Given the description of an element on the screen output the (x, y) to click on. 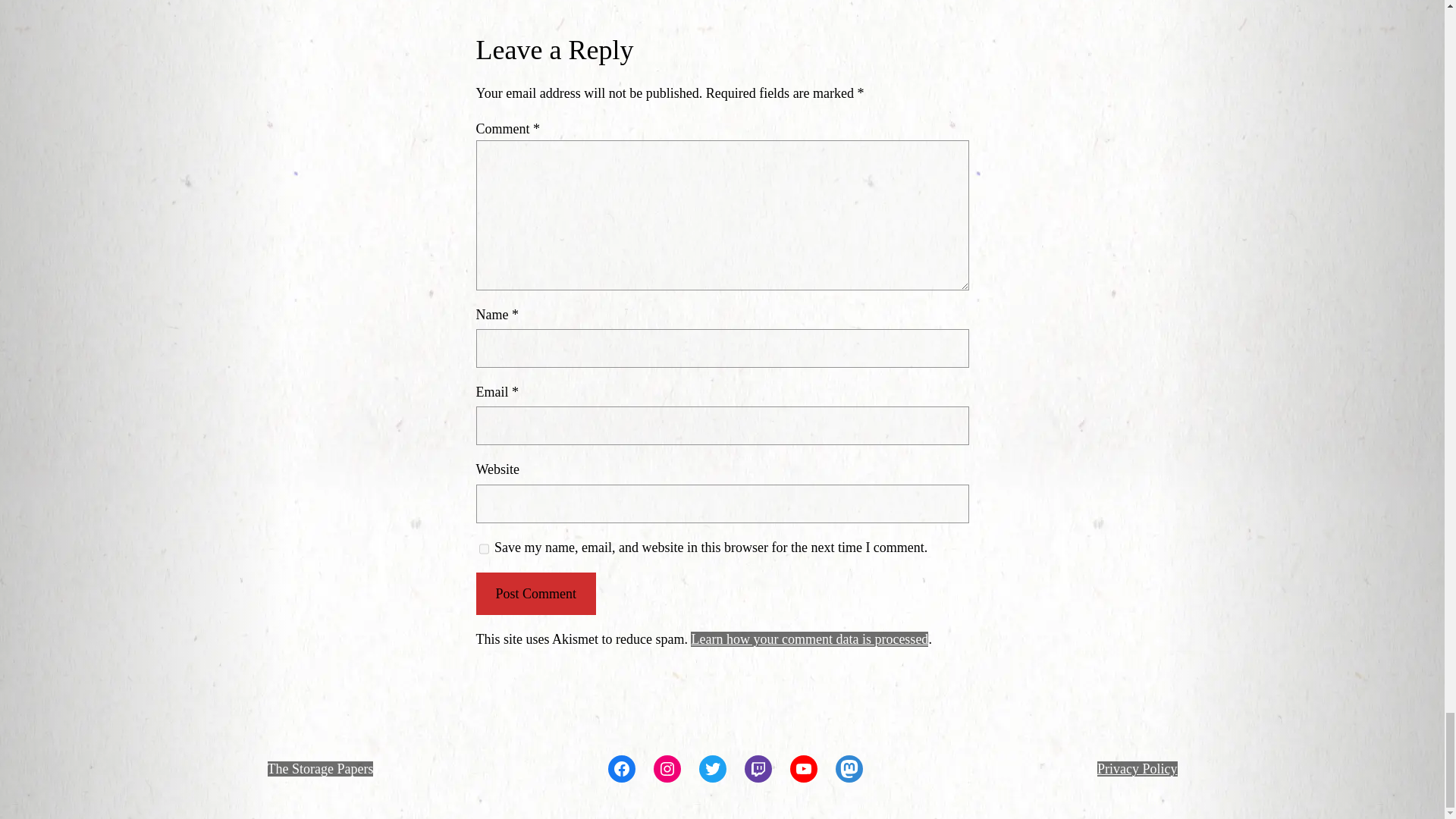
The Storage Papers (319, 768)
Instagram (667, 768)
Post Comment (535, 593)
Post Comment (535, 593)
Facebook (621, 768)
Learn how your comment data is processed (809, 639)
